Given the description of an element on the screen output the (x, y) to click on. 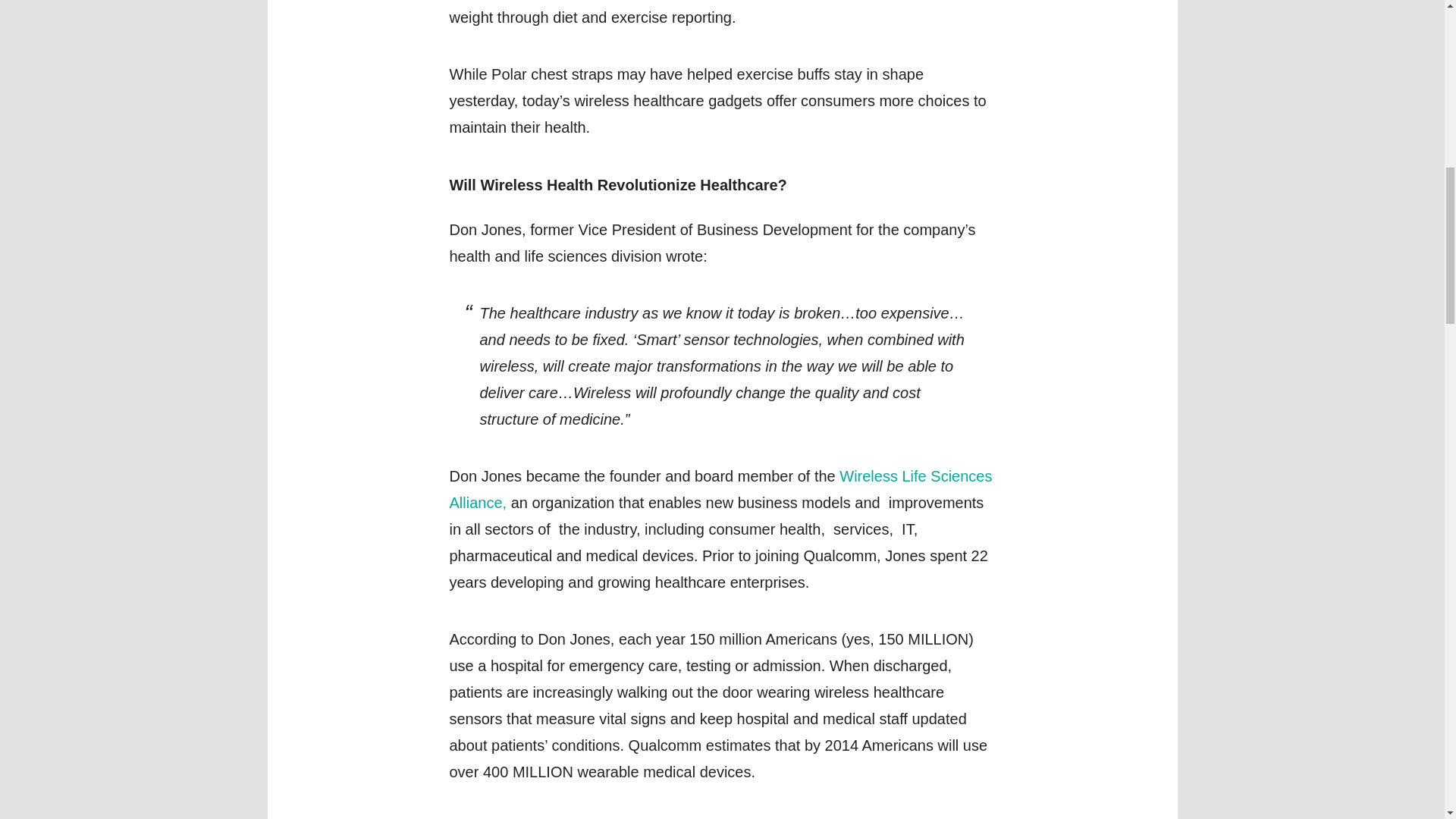
Wireless Life Sciences Alliance (719, 488)
Wireless Life Sciences Alliance, (719, 488)
